Given the description of an element on the screen output the (x, y) to click on. 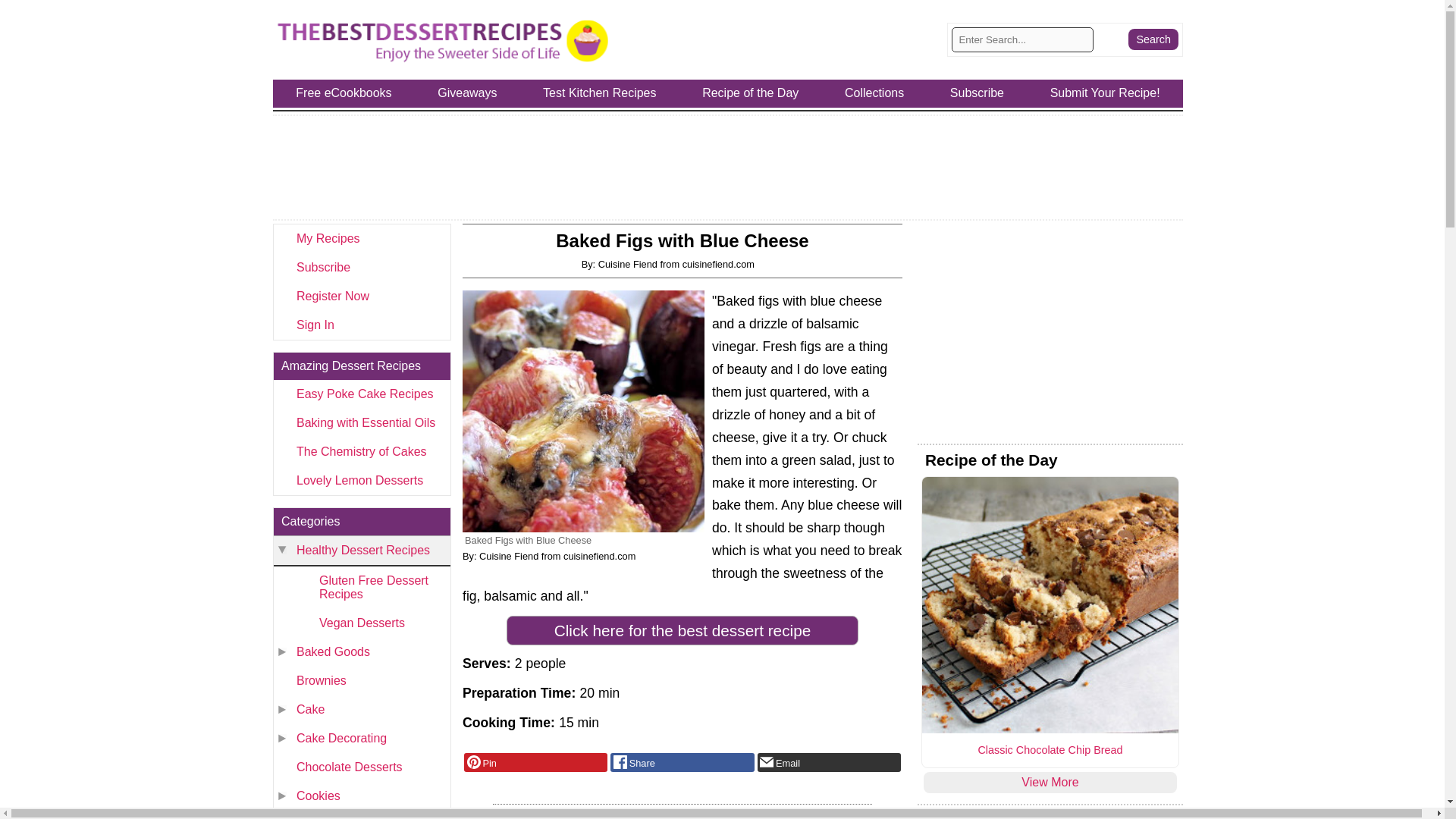
My Recipes (361, 238)
Facebook (682, 762)
Baked Figs with Blue Cheese (583, 411)
Email (829, 762)
Search (1152, 38)
Sign In (361, 325)
Register Now (361, 296)
Subscribe (361, 267)
